Given the description of an element on the screen output the (x, y) to click on. 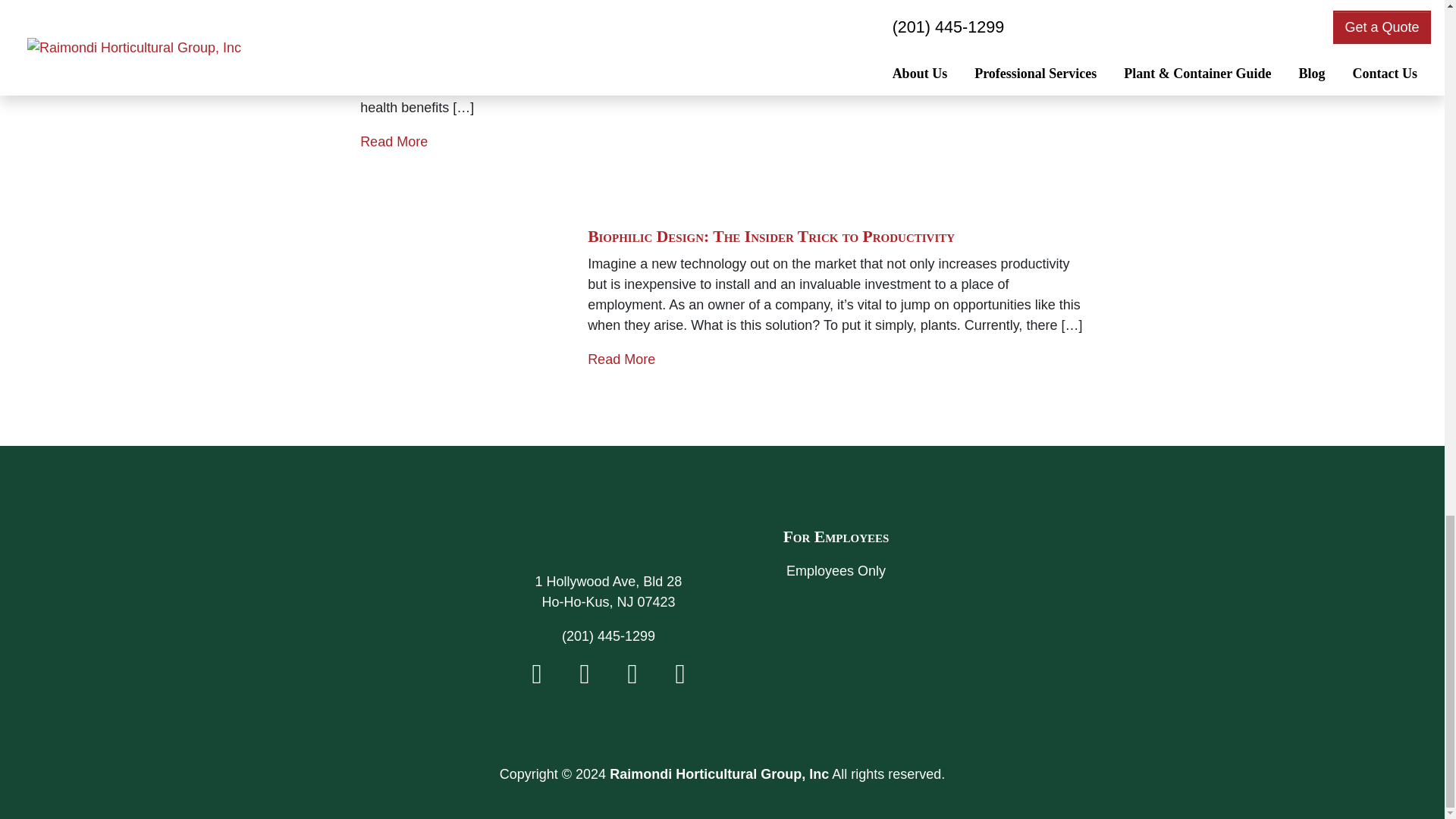
LinkedIn (679, 678)
Read More (393, 141)
Twitter (584, 678)
Instagram (632, 678)
Biophilic Design: The Insider Trick to Productivity (771, 236)
Facebook (536, 678)
Read More (621, 359)
Employees Only (835, 571)
Living Walls Do Come in Smaller Packages (515, 3)
Raimondi Horticultural Group, Inc (608, 535)
